Given the description of an element on the screen output the (x, y) to click on. 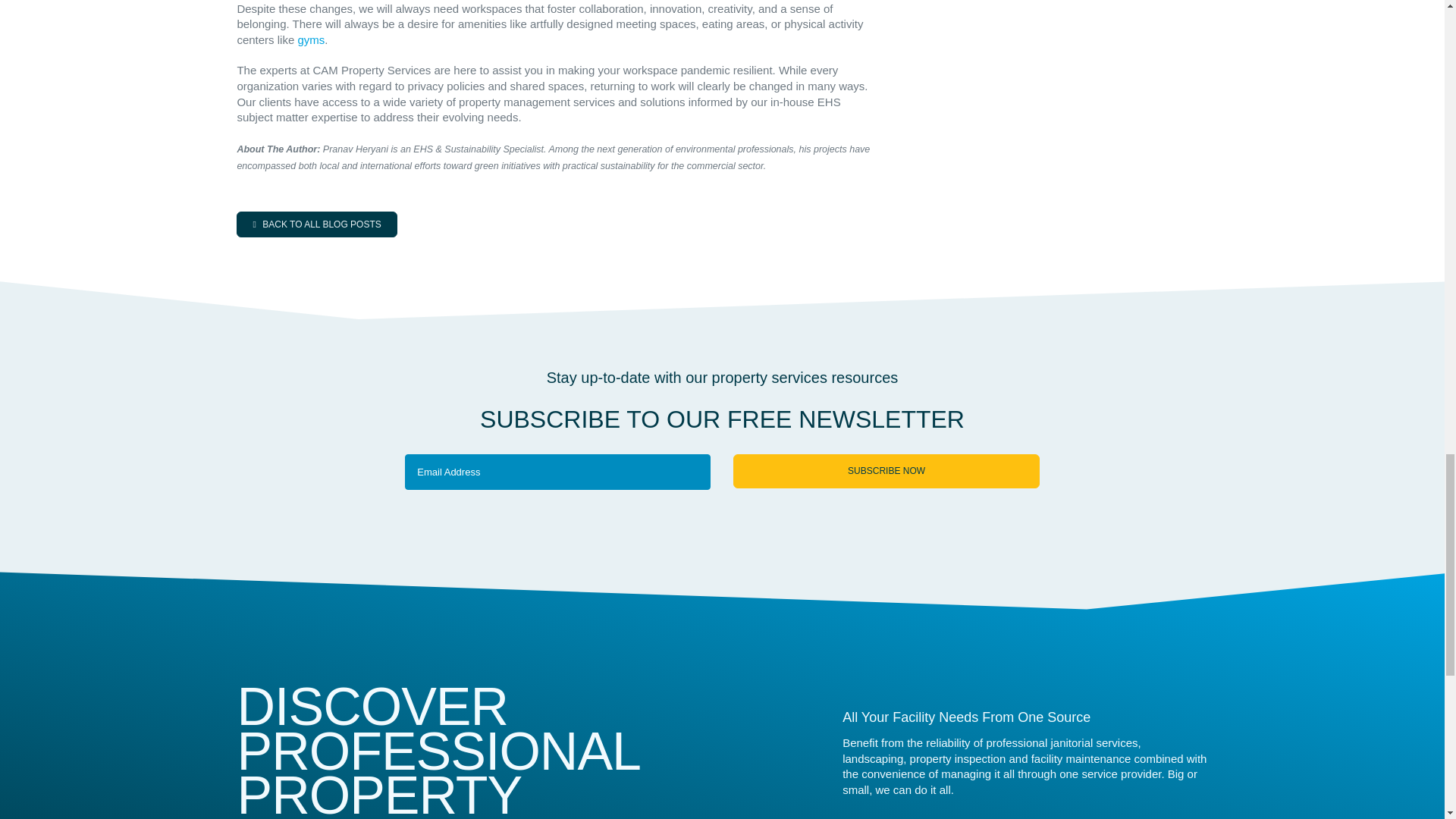
SUBSCRIBE NOW (886, 471)
